Given the description of an element on the screen output the (x, y) to click on. 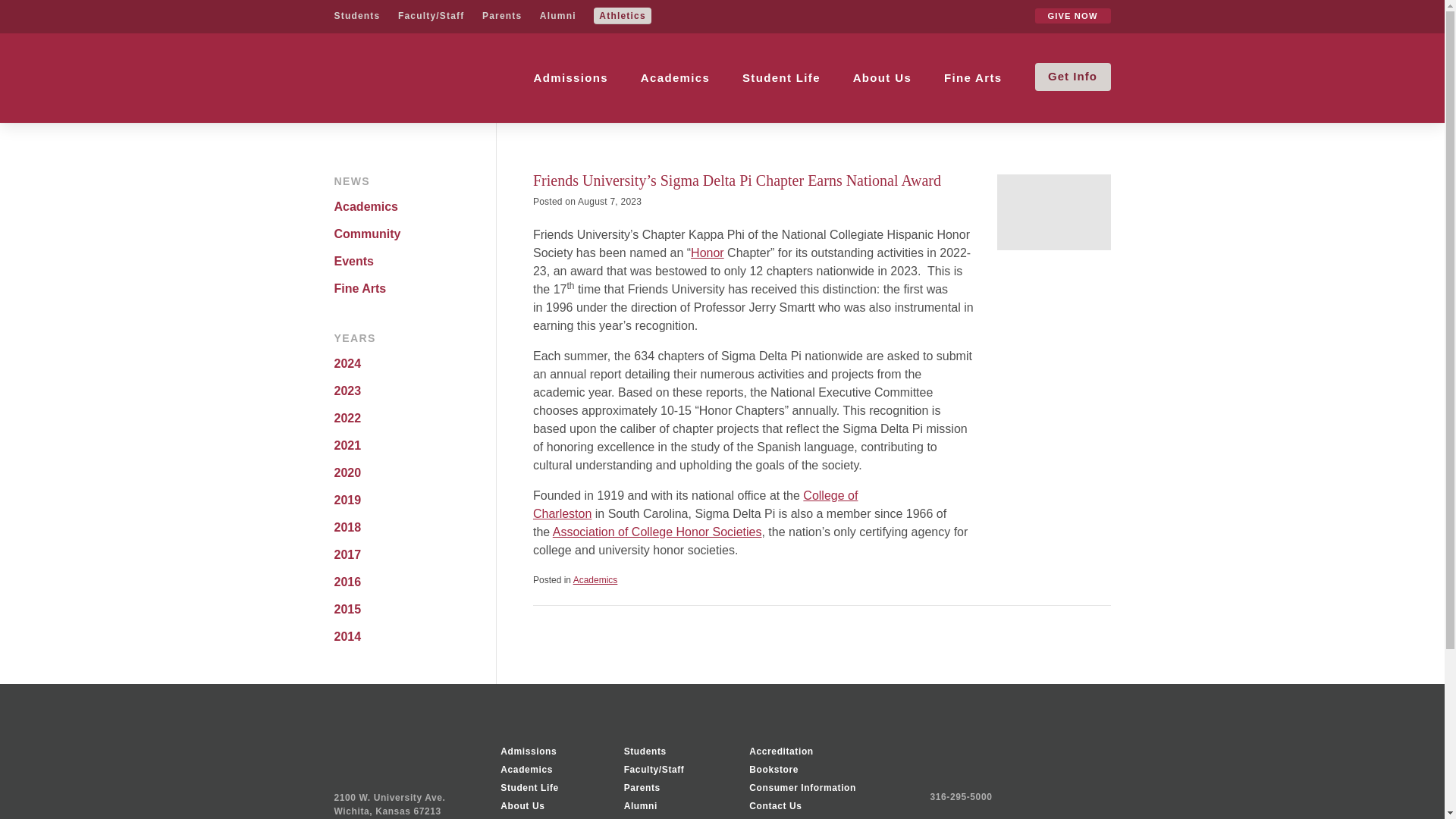
Parents (501, 15)
Friends University (397, 77)
Athletics (622, 15)
Events News Archive (408, 261)
Community News Archive (408, 234)
GIVE NOW (1071, 15)
News Archive for 2024 (408, 363)
News Archive for 2023 (408, 390)
Academics (674, 77)
Academics News Archive (408, 206)
